Given the description of an element on the screen output the (x, y) to click on. 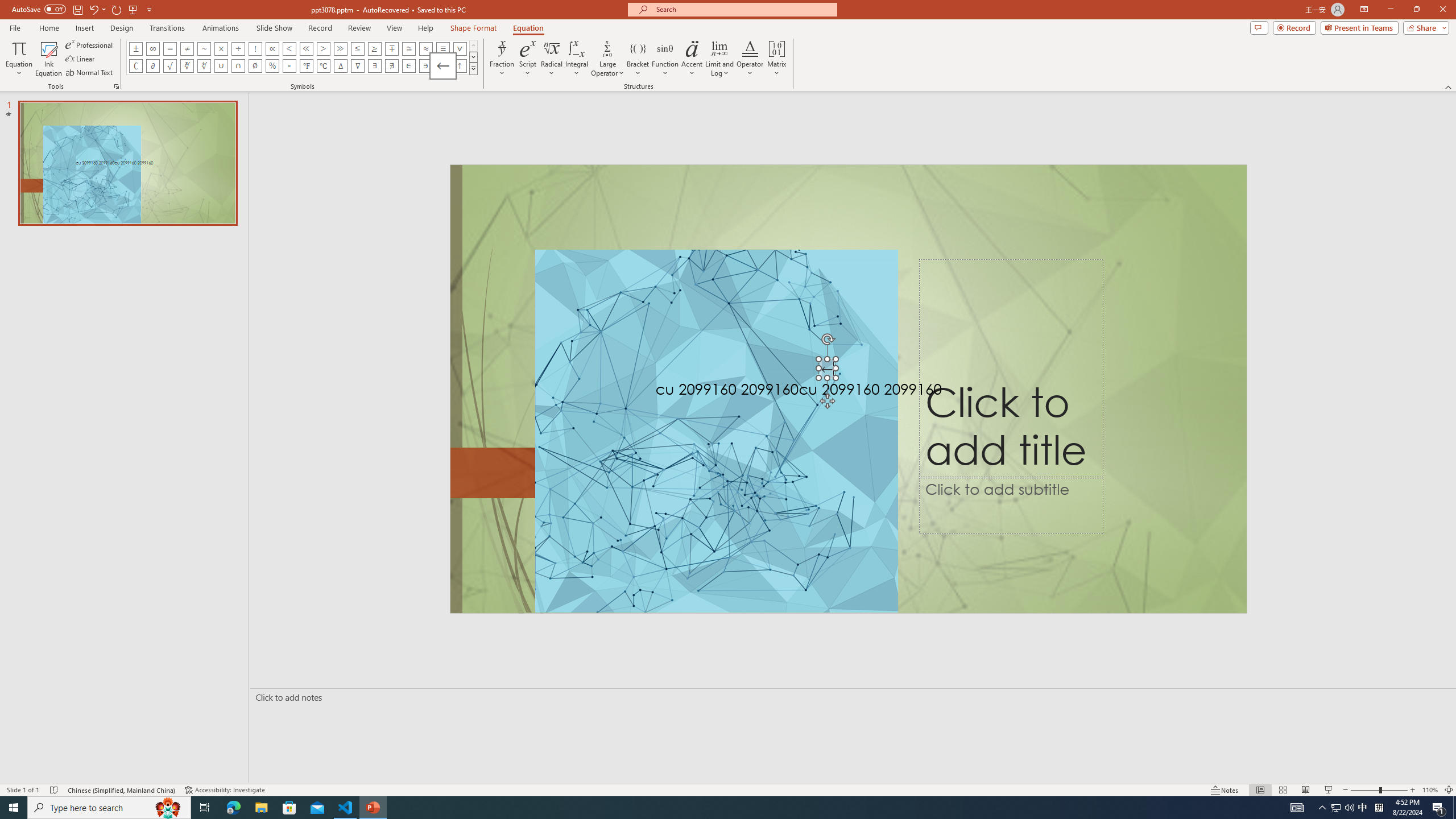
Equation Symbol Identical To (442, 48)
Equation (18, 58)
Large Operator (607, 58)
Equation Symbol Almost Equal To (Asymptotic To) (425, 48)
Bracket (638, 58)
Equation Symbol For All (459, 48)
Equation Symbol Approximately (203, 48)
Equation Symbol Intersection (238, 65)
Equation Symbol Left Arrow (442, 65)
Fraction (502, 58)
Equation (528, 28)
Equation Symbol Increment (340, 65)
